Given the description of an element on the screen output the (x, y) to click on. 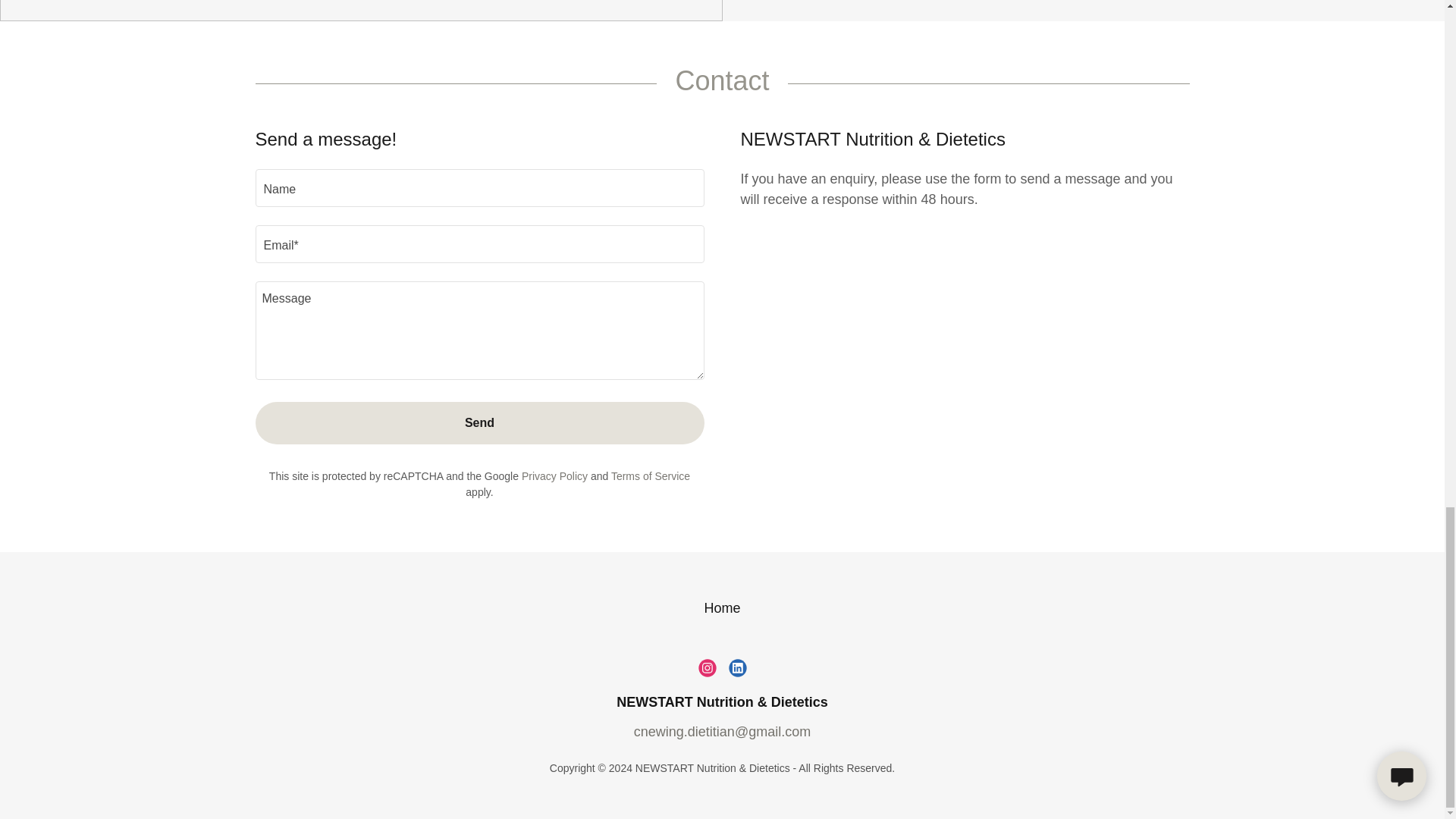
Privacy Policy (554, 476)
Send (478, 423)
Home (721, 608)
Terms of Service (650, 476)
